Given the description of an element on the screen output the (x, y) to click on. 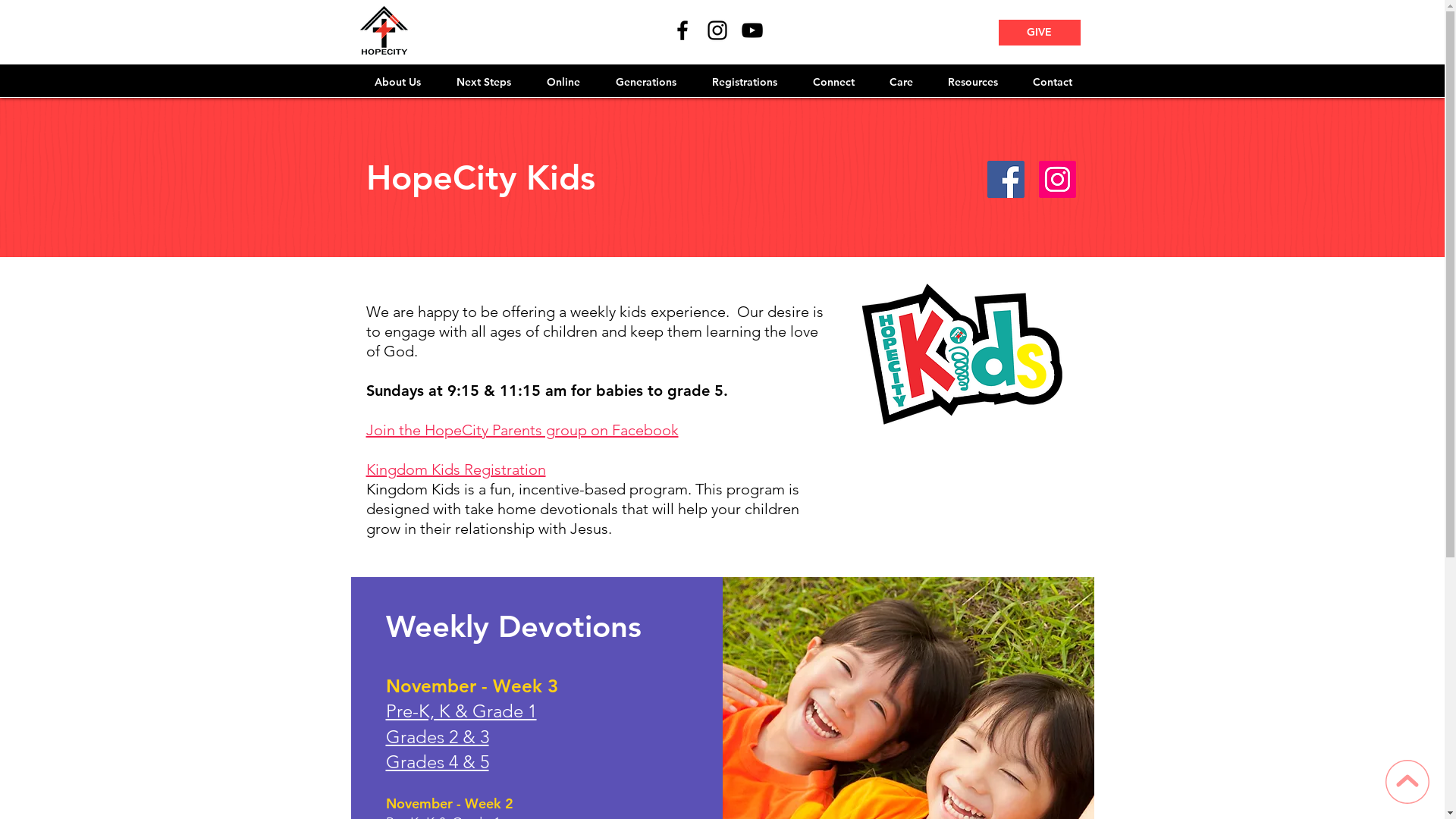
Contact Element type: text (1051, 81)
Pre-K, K & Grade 1 Element type: text (460, 710)
Online Element type: text (563, 81)
Join the HopeCity Parents group on Facebook Element type: text (521, 429)
Generations Element type: text (645, 81)
Grades 4 & 5 Element type: text (436, 761)
GIVE Element type: text (1038, 32)
About Us Element type: text (397, 81)
Kingdom Kids Registration Element type: text (455, 469)
Registrations Element type: text (744, 81)
Grades 2 & 3 Element type: text (436, 736)
